Given the description of an element on the screen output the (x, y) to click on. 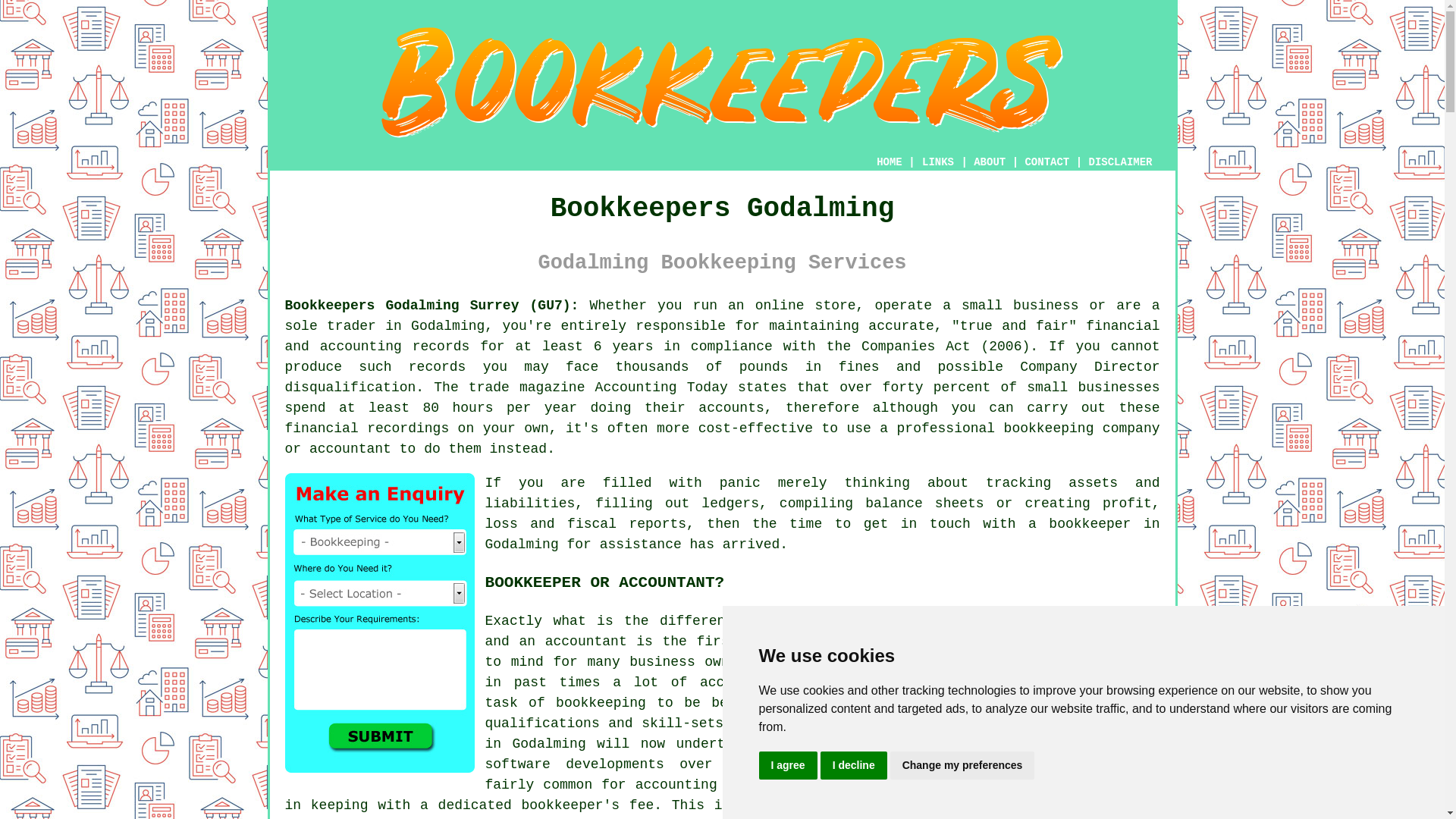
HOME (889, 162)
I agree (787, 765)
LINKS (938, 161)
Bookkeepers Godalming (721, 82)
I decline (853, 765)
Change my preferences (962, 765)
a bookkeeper (1079, 523)
bookkeeper's fee (587, 805)
